Given the description of an element on the screen output the (x, y) to click on. 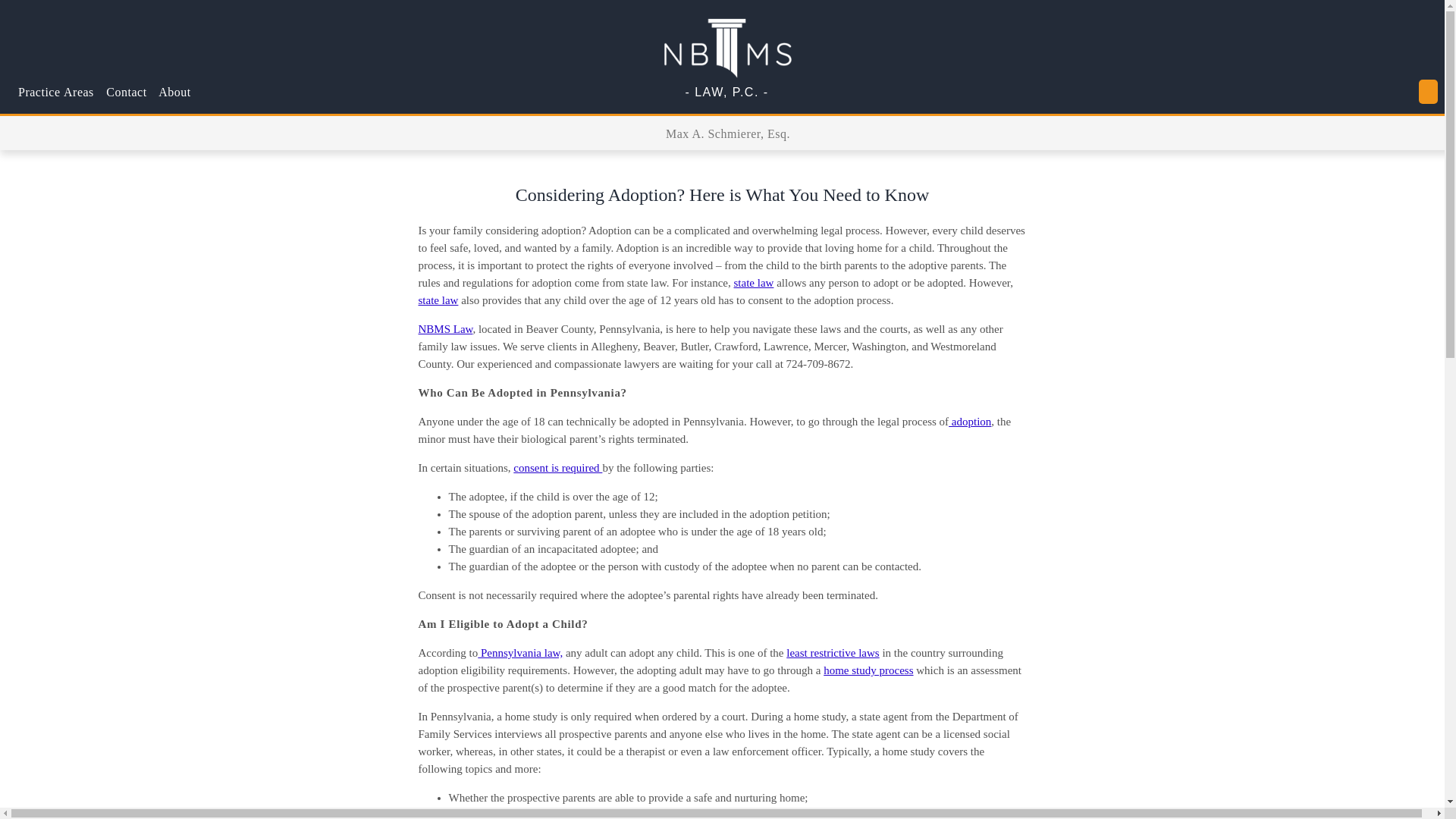
Pennsylvania law, (519, 653)
adoption (970, 421)
state law (753, 282)
home study process (868, 670)
Max A. Schmierer, Esq. (727, 133)
state law (438, 300)
least restrictive laws (832, 653)
NBMS Law (446, 328)
consent is required (557, 467)
